Given the description of an element on the screen output the (x, y) to click on. 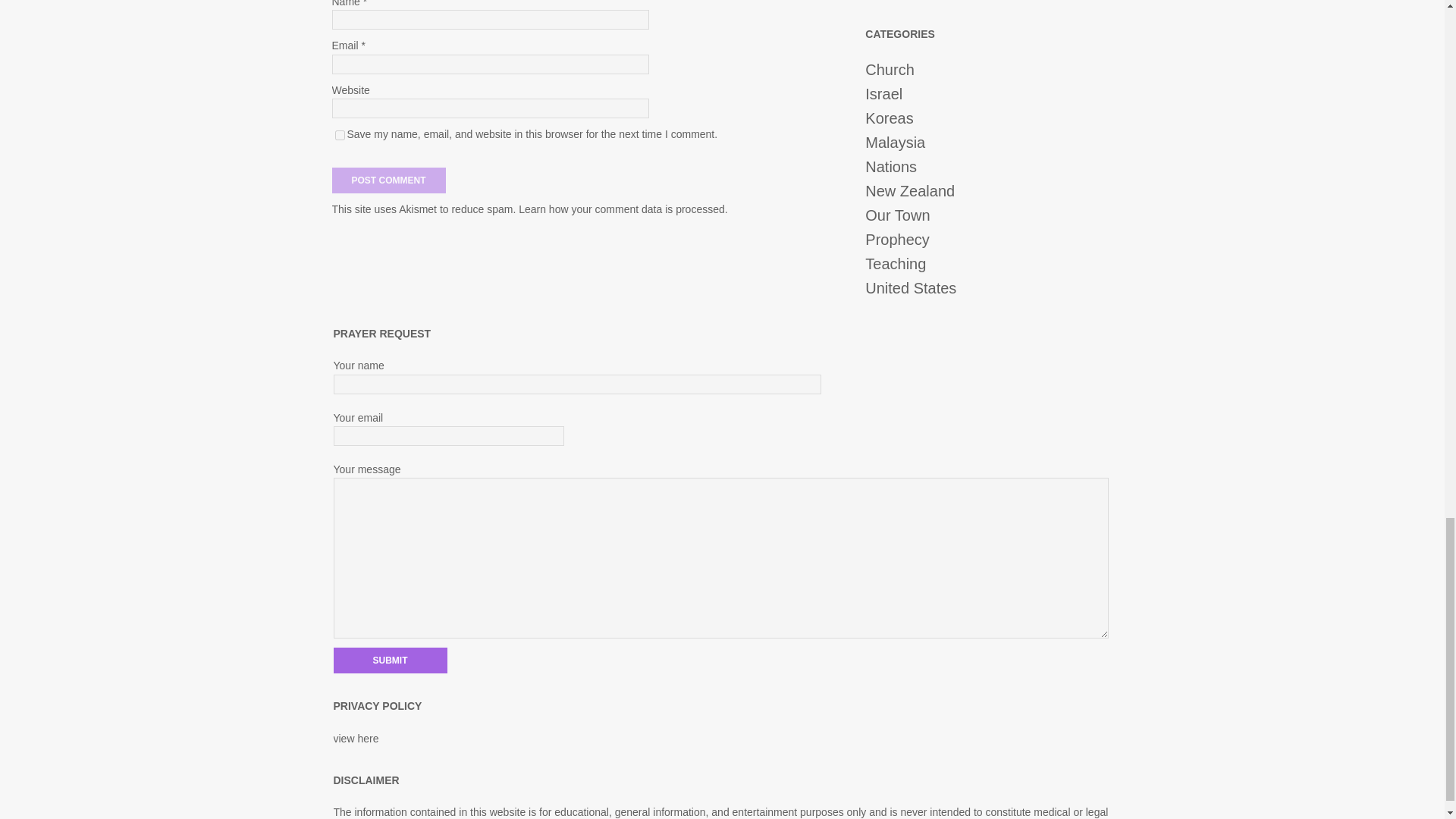
Post Comment (388, 180)
Learn how your comment data is processed (621, 209)
Post Comment (388, 180)
yes (339, 135)
Submit (389, 660)
